Given the description of an element on the screen output the (x, y) to click on. 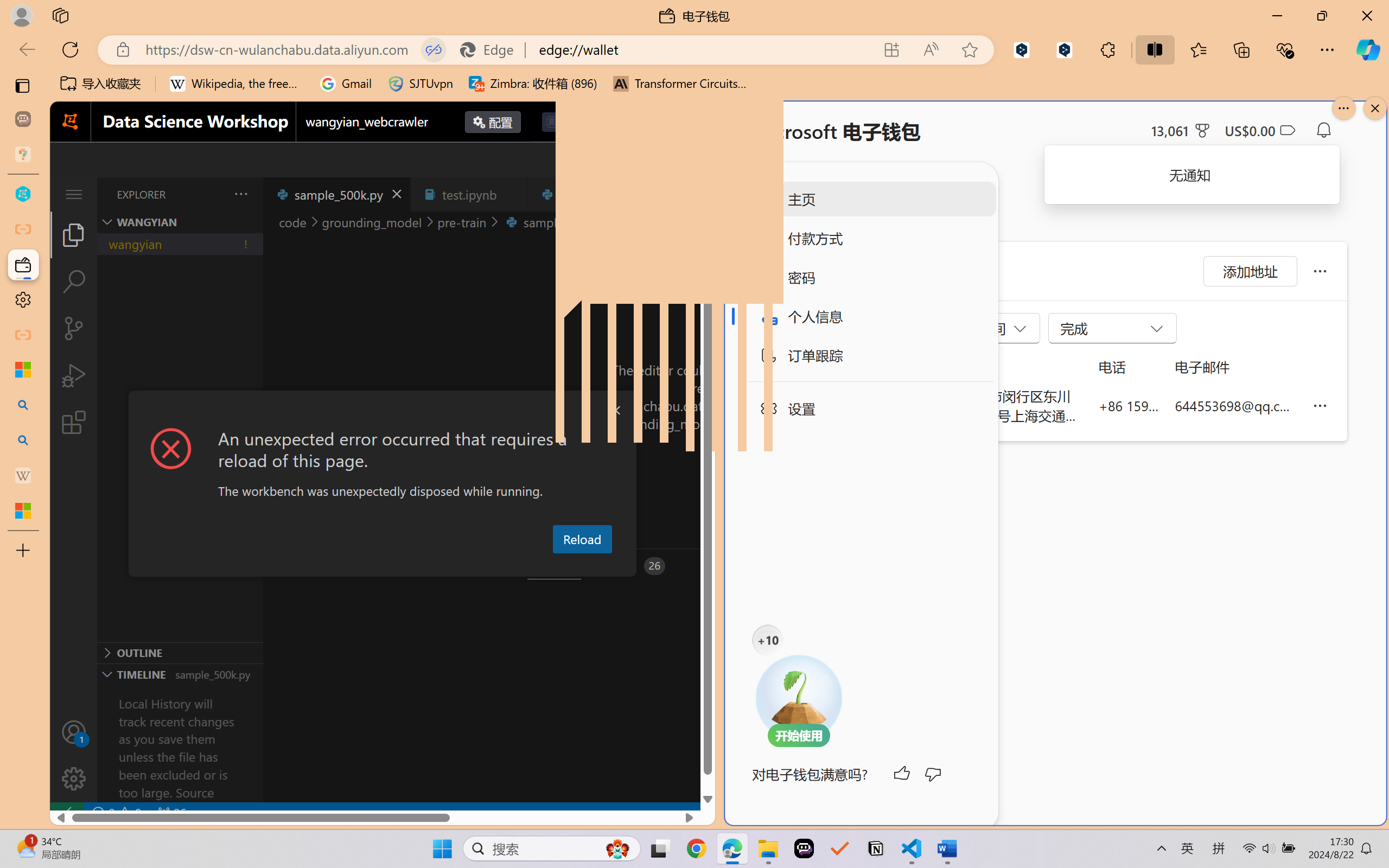
No Problems (115, 812)
Edge (492, 49)
Ports - 26 forwarded ports (632, 565)
Class: menubar compact overflow-menu-only (73, 194)
